Given the description of an element on the screen output the (x, y) to click on. 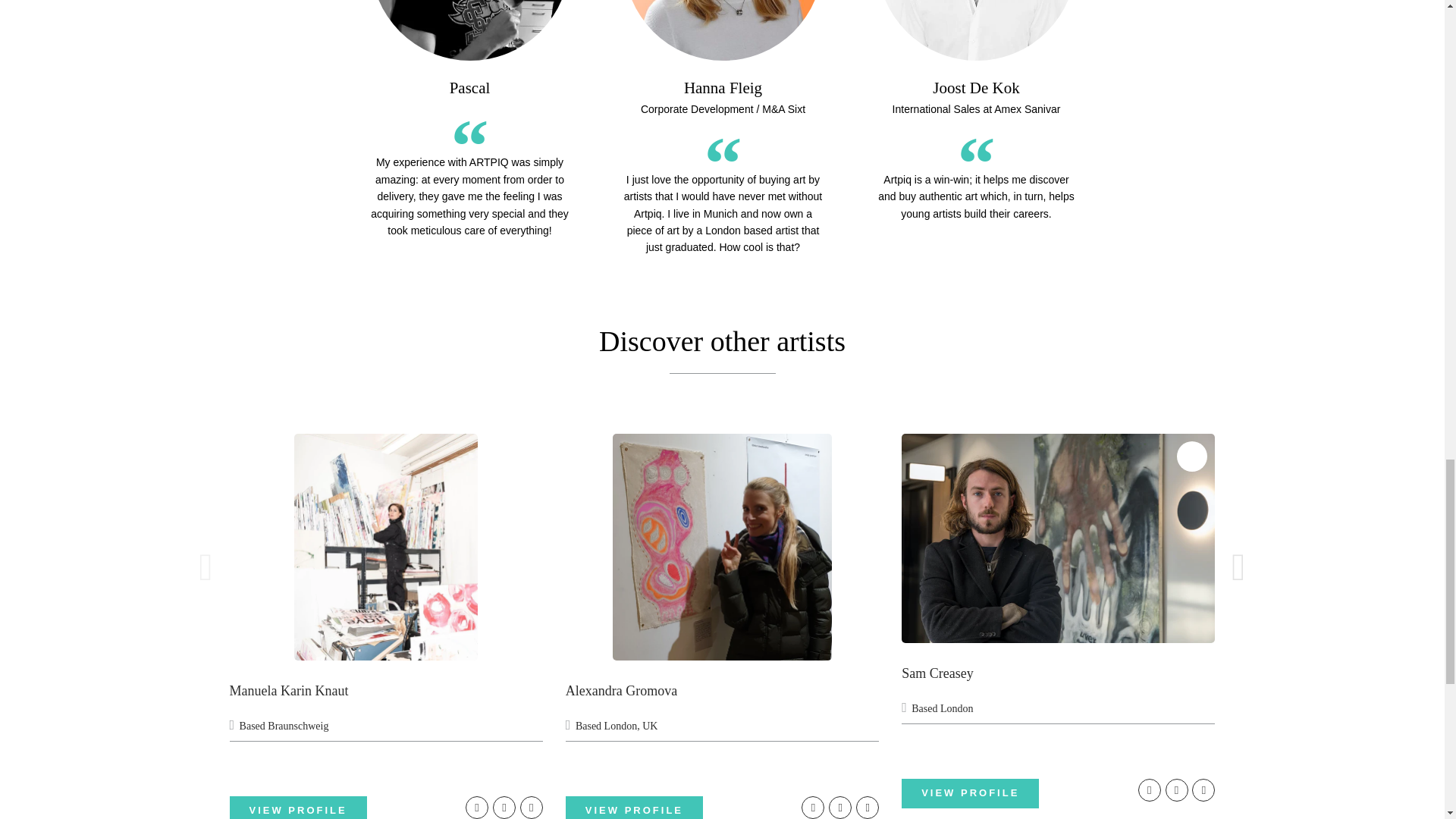
Pin on Pinterest (867, 807)
Share on Facebook (1149, 789)
Tweet on Twitter (839, 807)
Share on Facebook (476, 807)
Pin on Pinterest (531, 807)
Tweet on Twitter (504, 807)
Share on Facebook (813, 807)
